Given the description of an element on the screen output the (x, y) to click on. 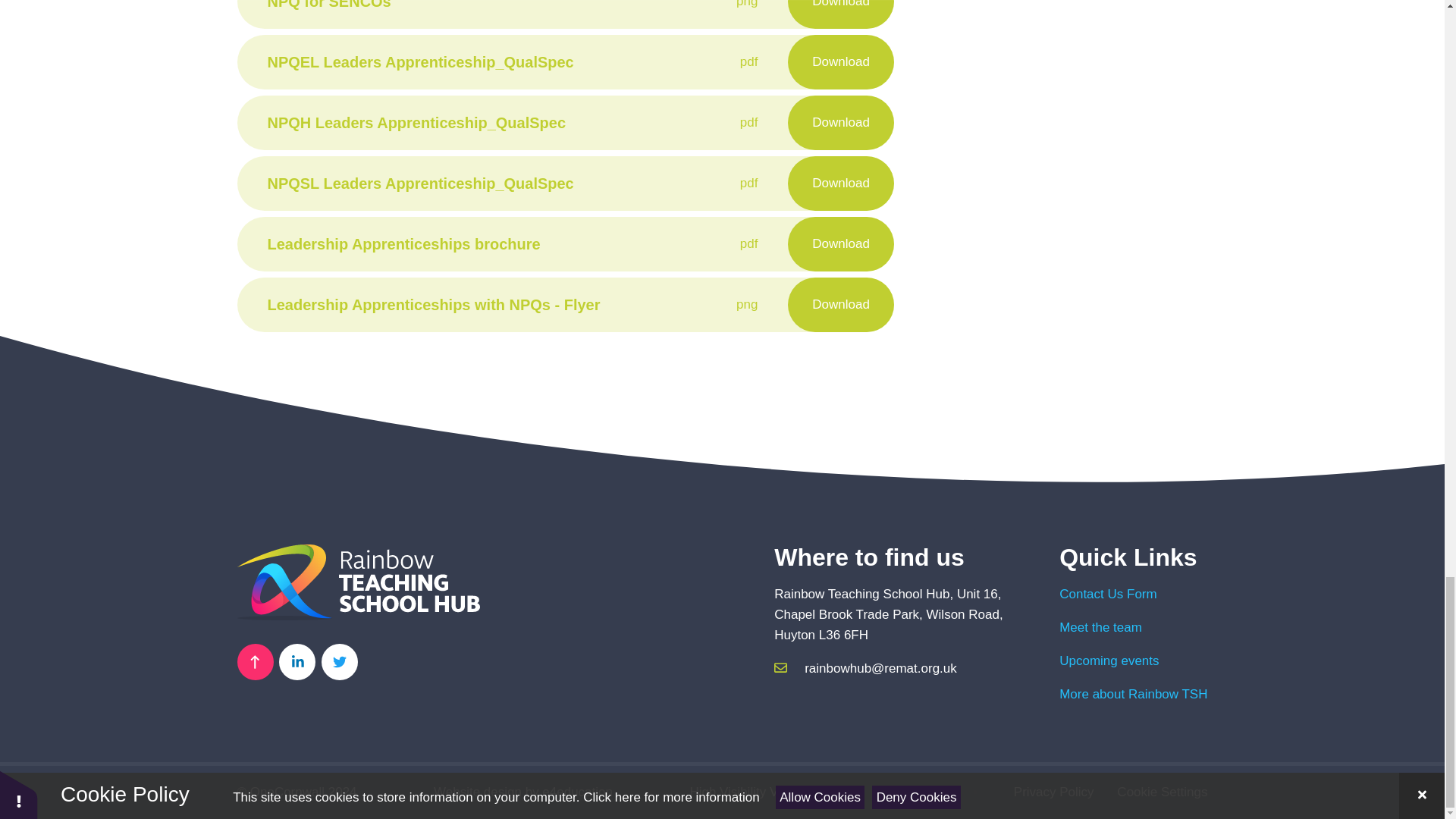
Cookie Settings (1161, 792)
